Given the description of an element on the screen output the (x, y) to click on. 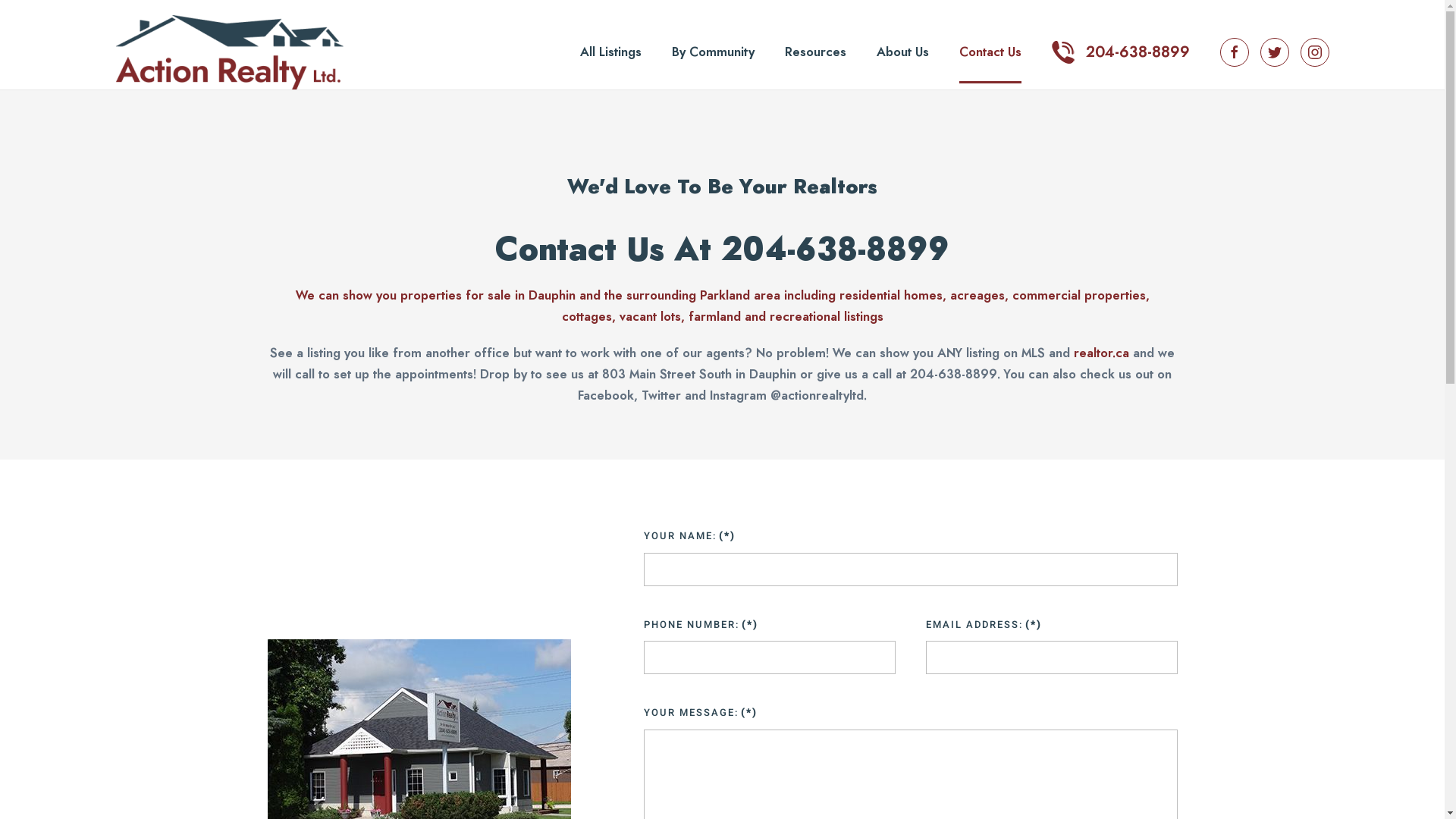
All Listings Element type: text (609, 51)
About Us Element type: text (902, 51)
realtor.ca Element type: text (1101, 353)
Contact Us Element type: text (989, 51)
Resources Element type: text (814, 51)
By Community Element type: text (712, 51)
204-638-8899 Element type: text (1120, 51)
